Given the description of an element on the screen output the (x, y) to click on. 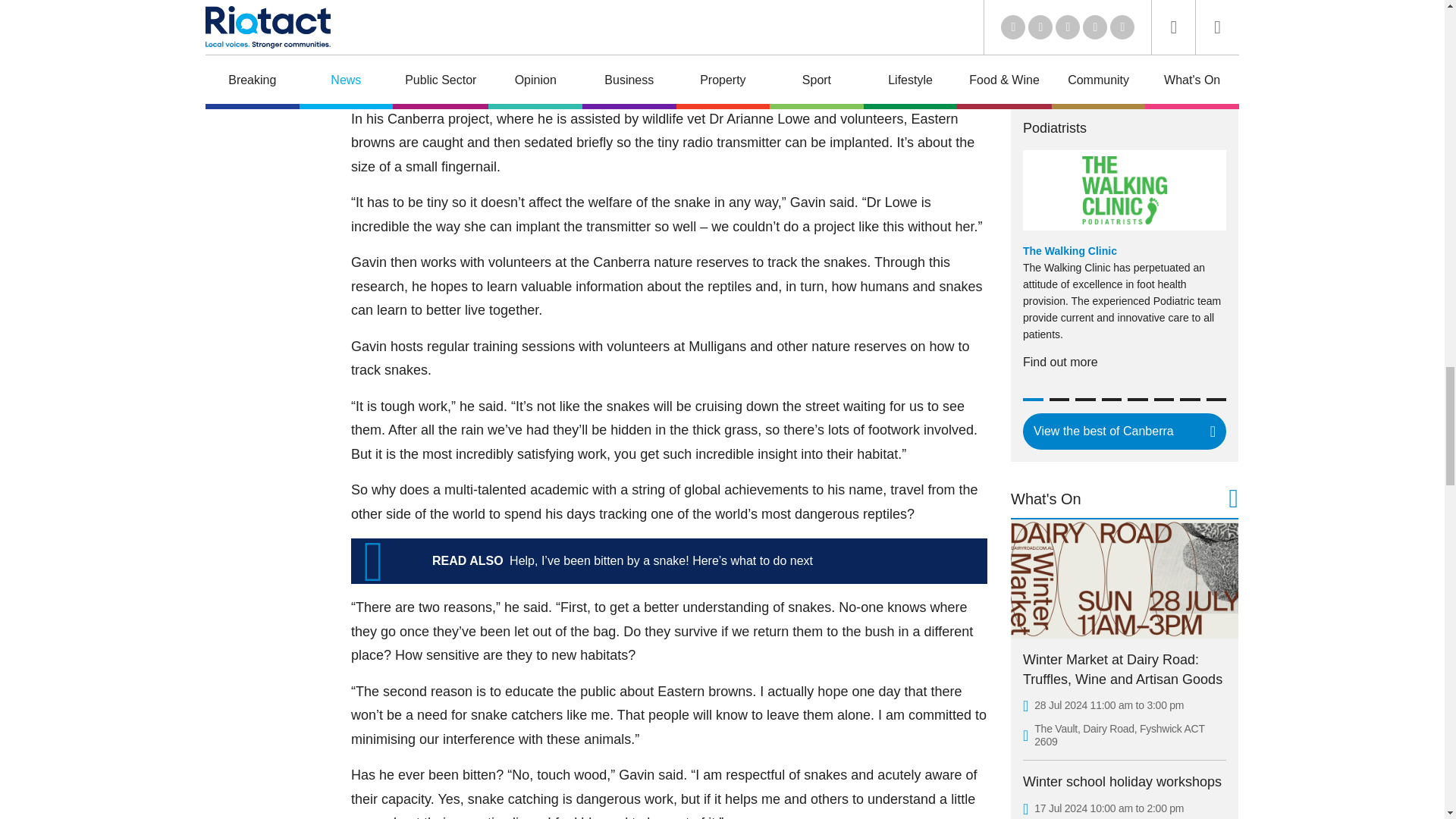
3rd party ad content (1124, 24)
